Given the description of an element on the screen output the (x, y) to click on. 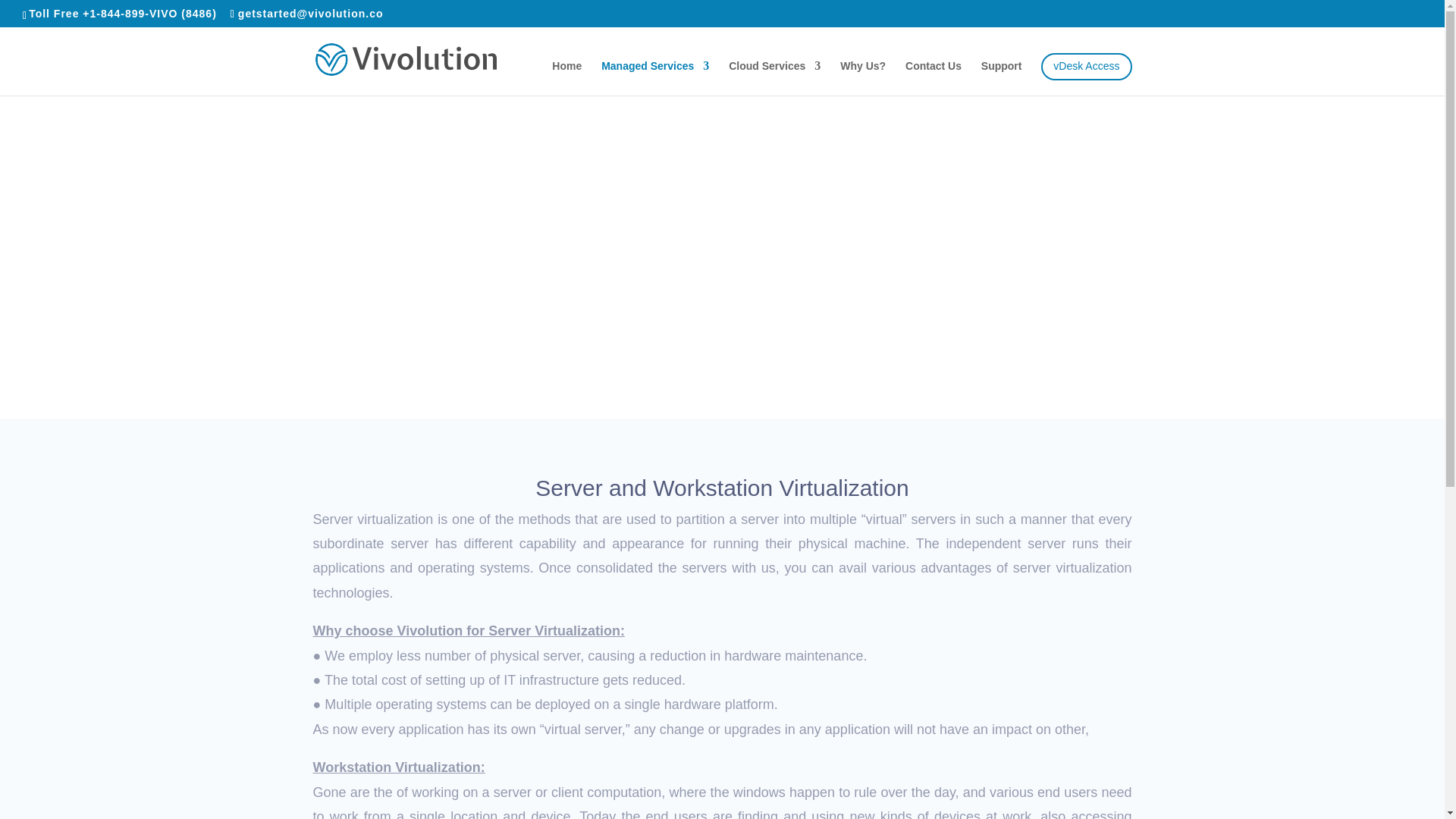
Support (1001, 73)
Managed Services (655, 73)
vDesk Access (1086, 66)
Cloud Services (775, 73)
Home (565, 73)
Why Us? (862, 73)
Contact Us (932, 73)
